Given the description of an element on the screen output the (x, y) to click on. 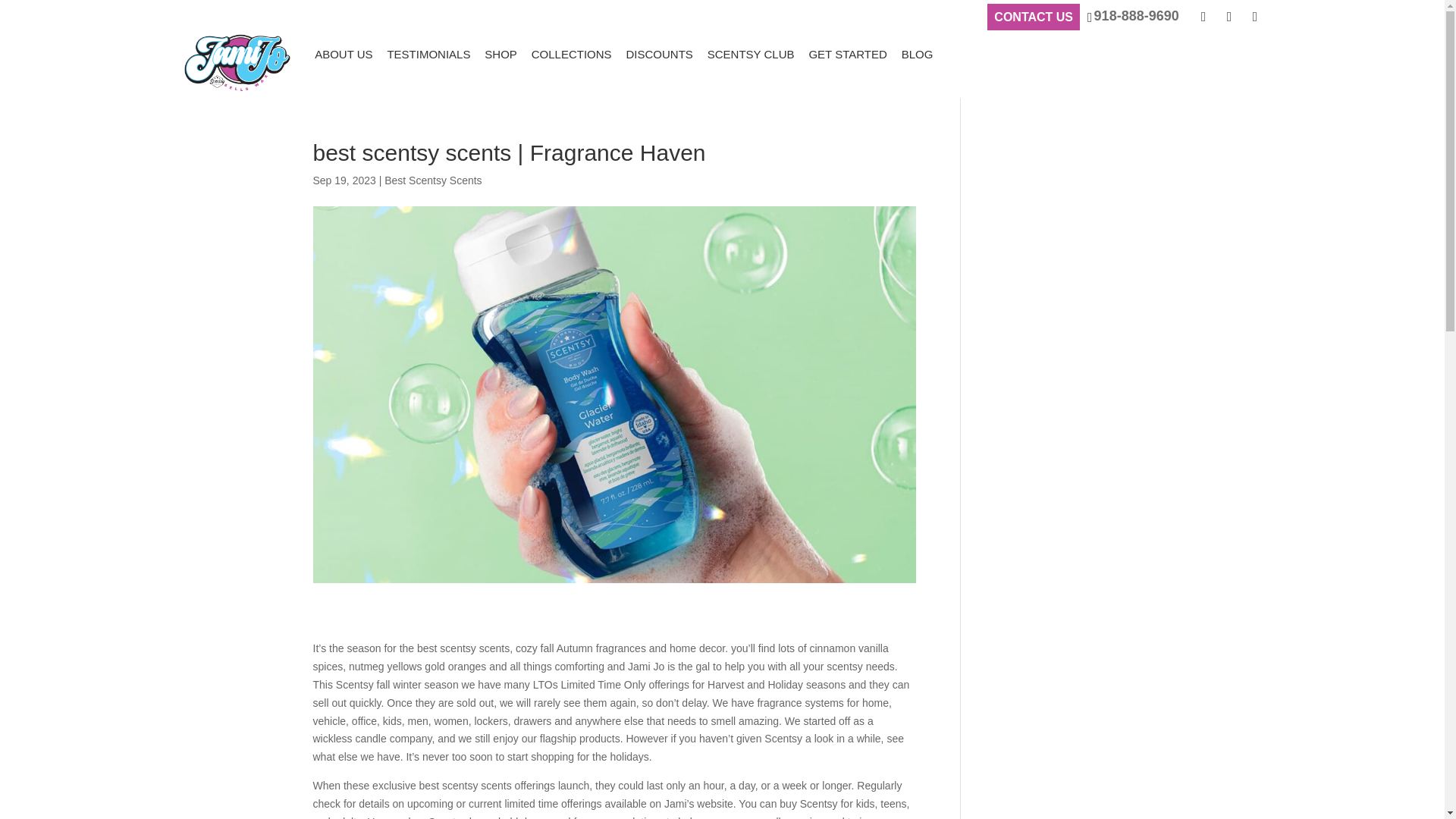
918-888-9690 (1133, 16)
COLLECTIONS (571, 54)
BLOG (917, 54)
SHOP (500, 54)
Best Scentsy Scents (432, 180)
TESTIMONIALS (428, 54)
CONTACT US (1033, 17)
DISCOUNTS (659, 54)
ABOUT US (343, 54)
SCENTSY CLUB (750, 54)
